Given the description of an element on the screen output the (x, y) to click on. 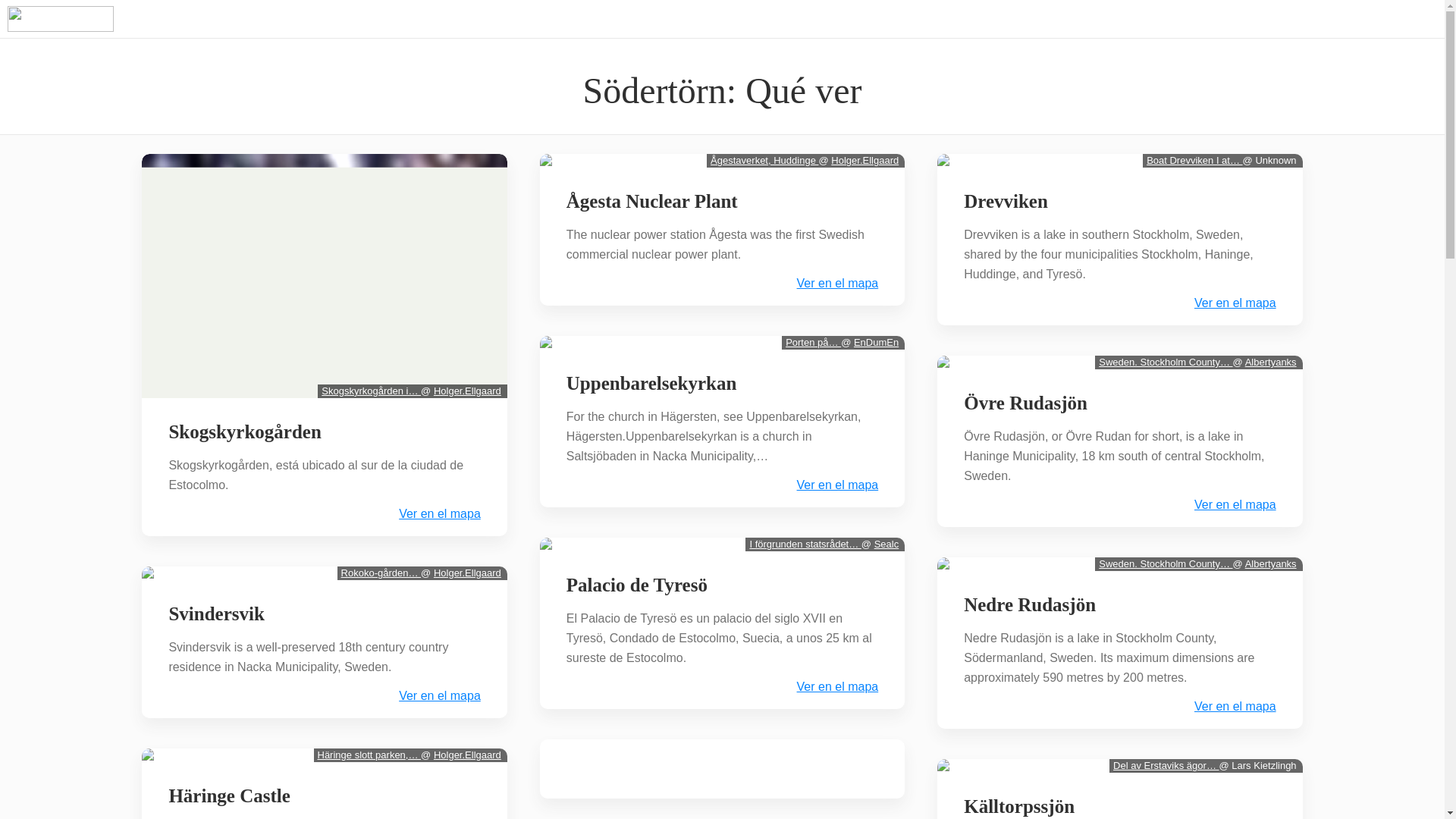
Holger.Ellgaard (466, 754)
Holger.Ellgaard (466, 390)
Holger.Ellgaard (466, 572)
Ver en el mapa (439, 695)
Ver en el mapa (439, 513)
Svindersvik (215, 613)
